Given the description of an element on the screen output the (x, y) to click on. 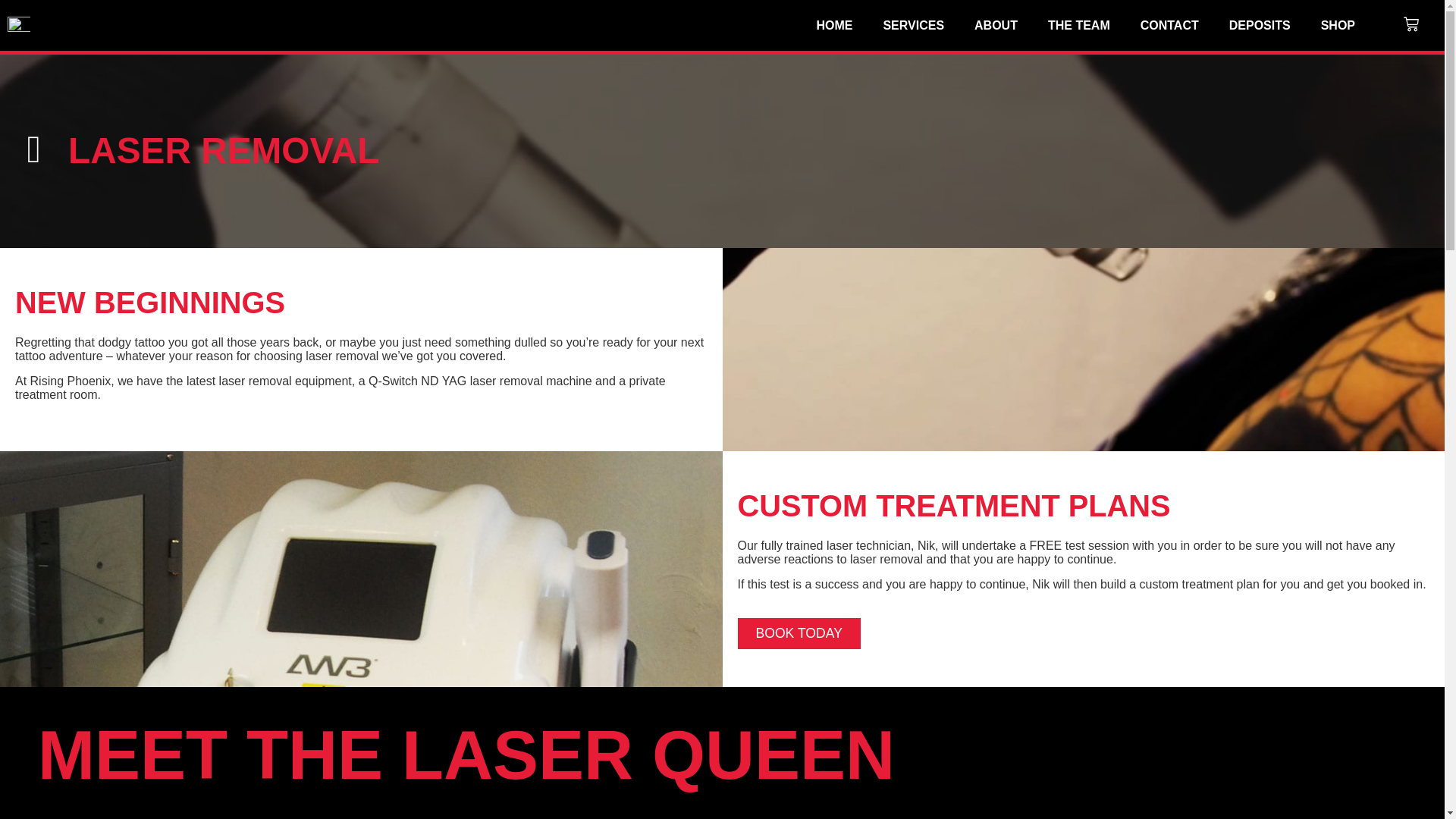
ABOUT (995, 25)
SERVICES (913, 25)
DEPOSITS (1260, 25)
THE TEAM (1078, 25)
SHOP (1338, 25)
HOME (833, 25)
CONTACT (1169, 25)
